Given the description of an element on the screen output the (x, y) to click on. 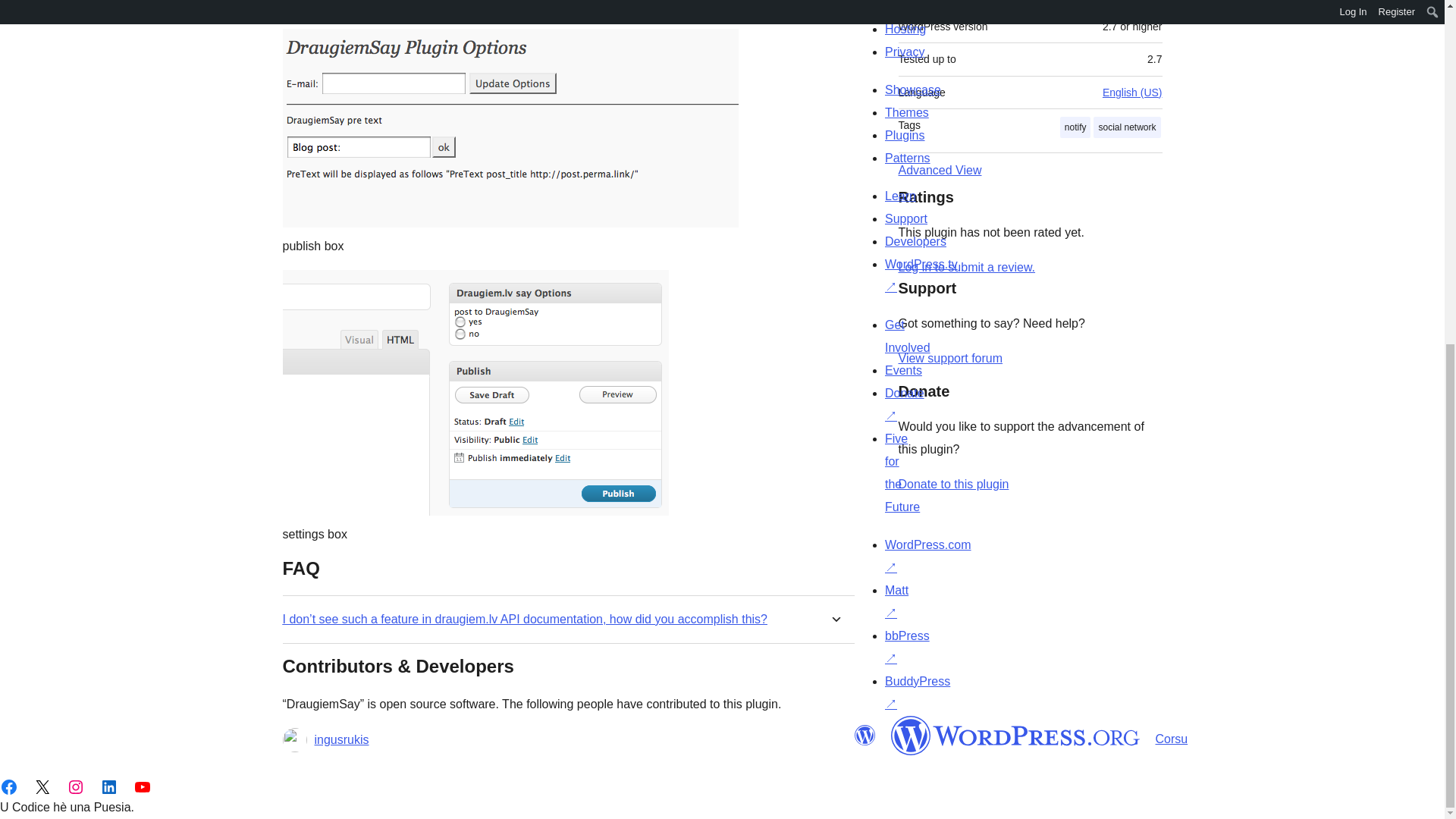
WordPress.org (1014, 735)
Log in to WordPress.org (966, 267)
ingusrukis (341, 739)
WordPress.org (864, 735)
